Given the description of an element on the screen output the (x, y) to click on. 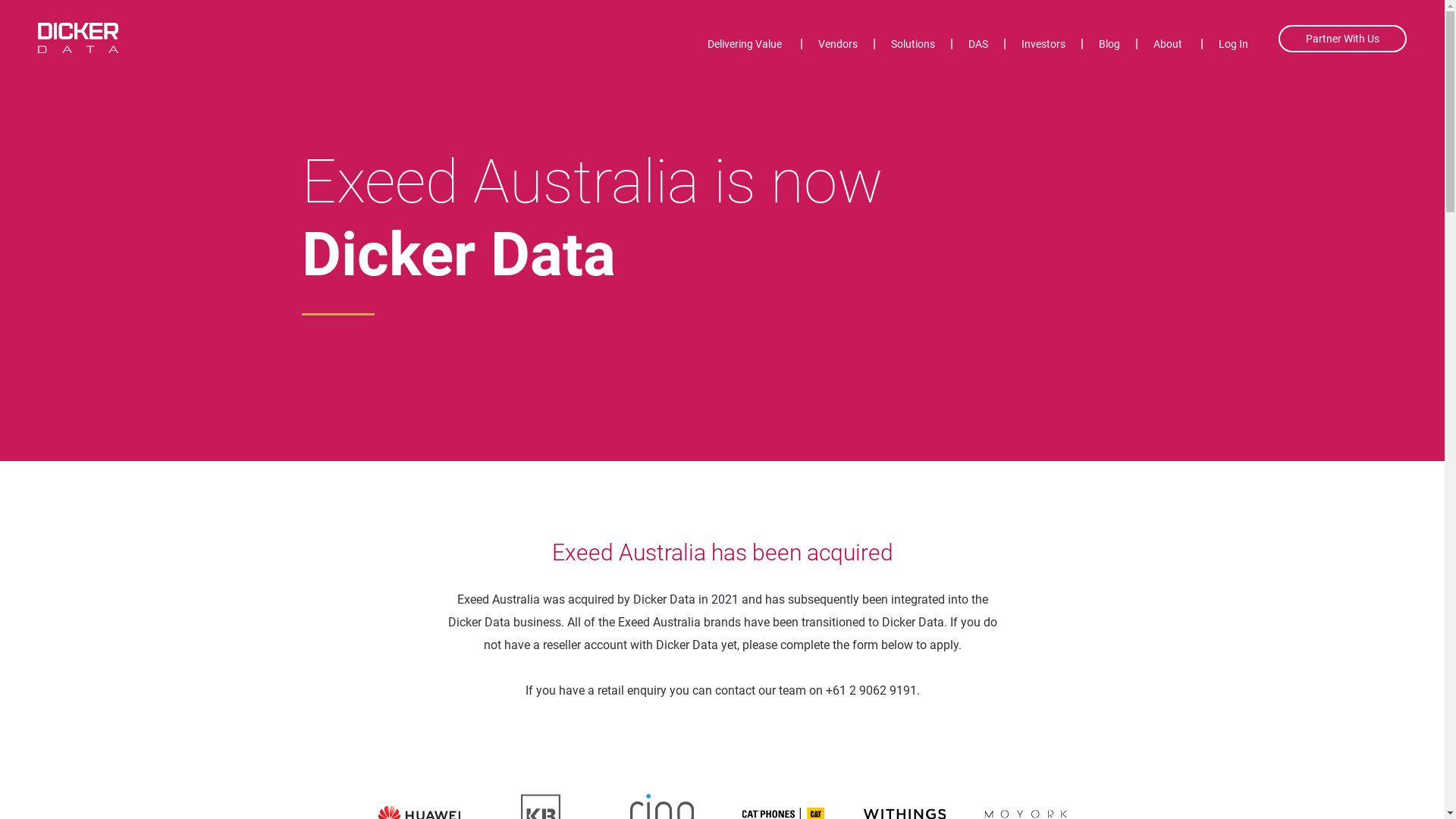
DAS Element type: text (978, 47)
dicker_data_logo.png Element type: hover (77, 37)
Log In Element type: text (1225, 47)
Solutions Element type: text (912, 47)
Investors Element type: text (1043, 47)
Blog Element type: text (1109, 47)
Partner With Us Element type: text (1342, 38)
Delivering Value Element type: text (744, 47)
About Element type: text (1167, 47)
Vendors Element type: text (837, 47)
